Given the description of an element on the screen output the (x, y) to click on. 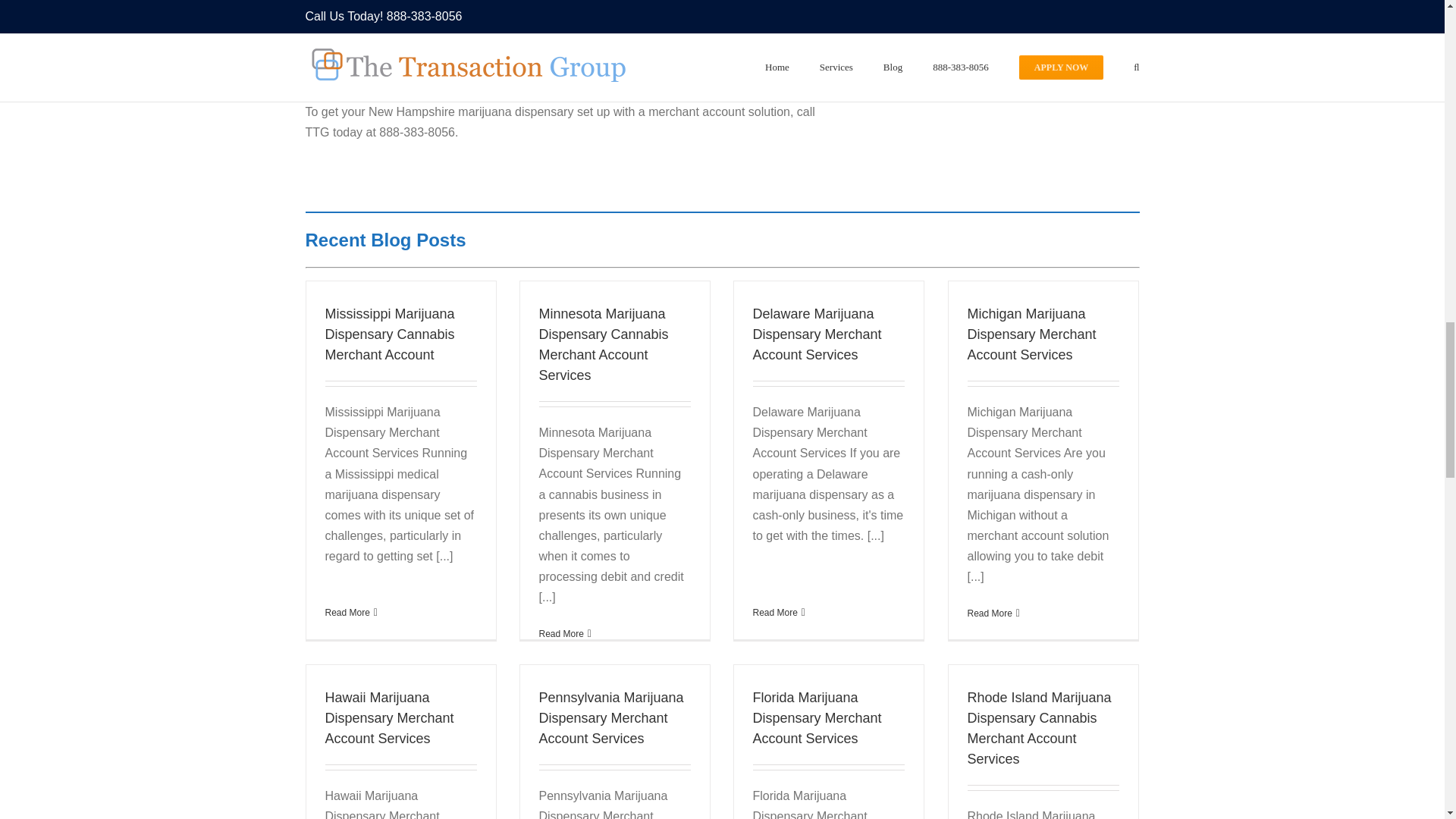
Read More (346, 612)
Mississippi Marijuana Dispensary Cannabis Merchant Account (389, 334)
Read More (560, 633)
